Given the description of an element on the screen output the (x, y) to click on. 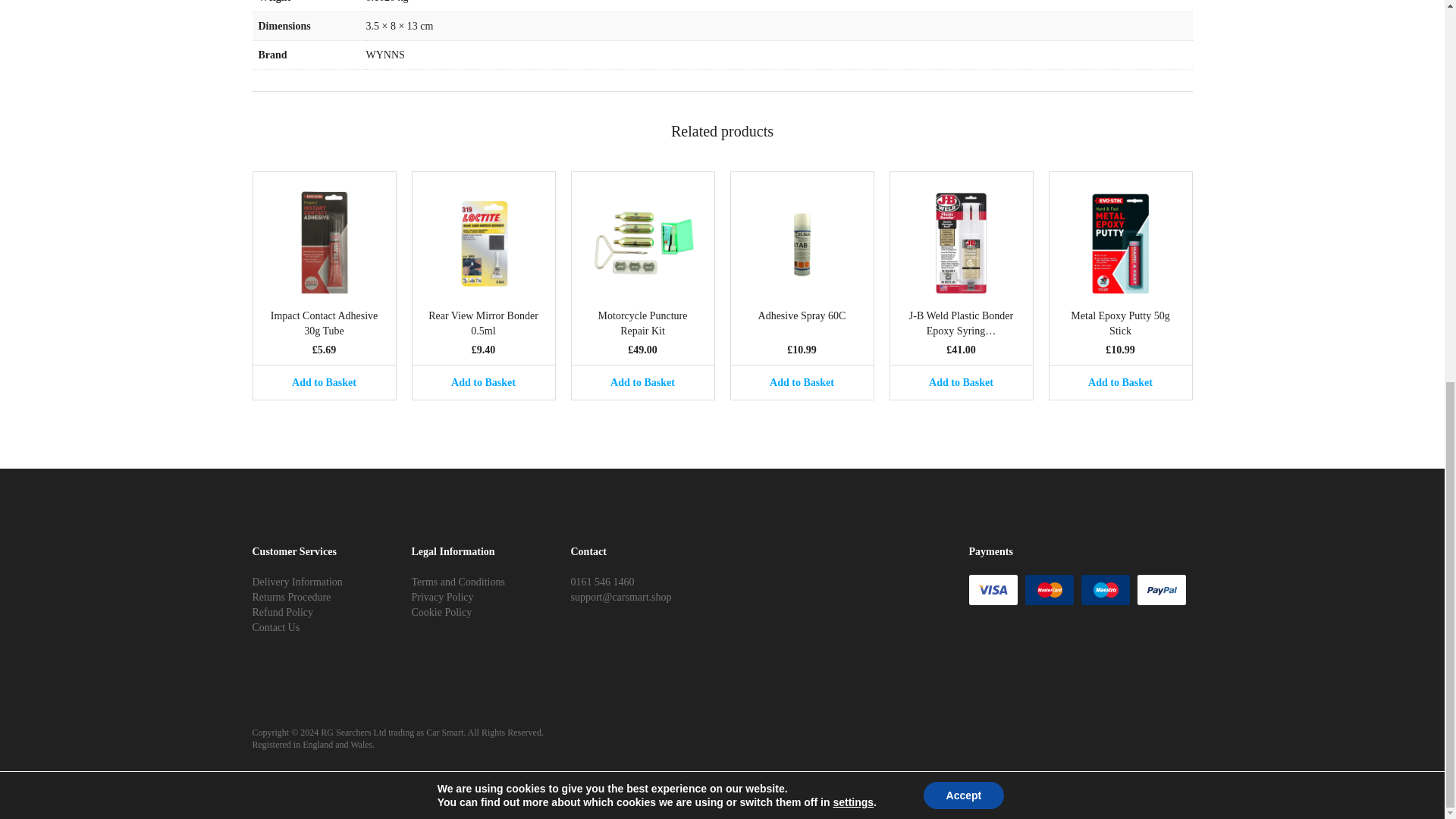
Motorcycle Puncture Repair Kit (642, 323)
